Given the description of an element on the screen output the (x, y) to click on. 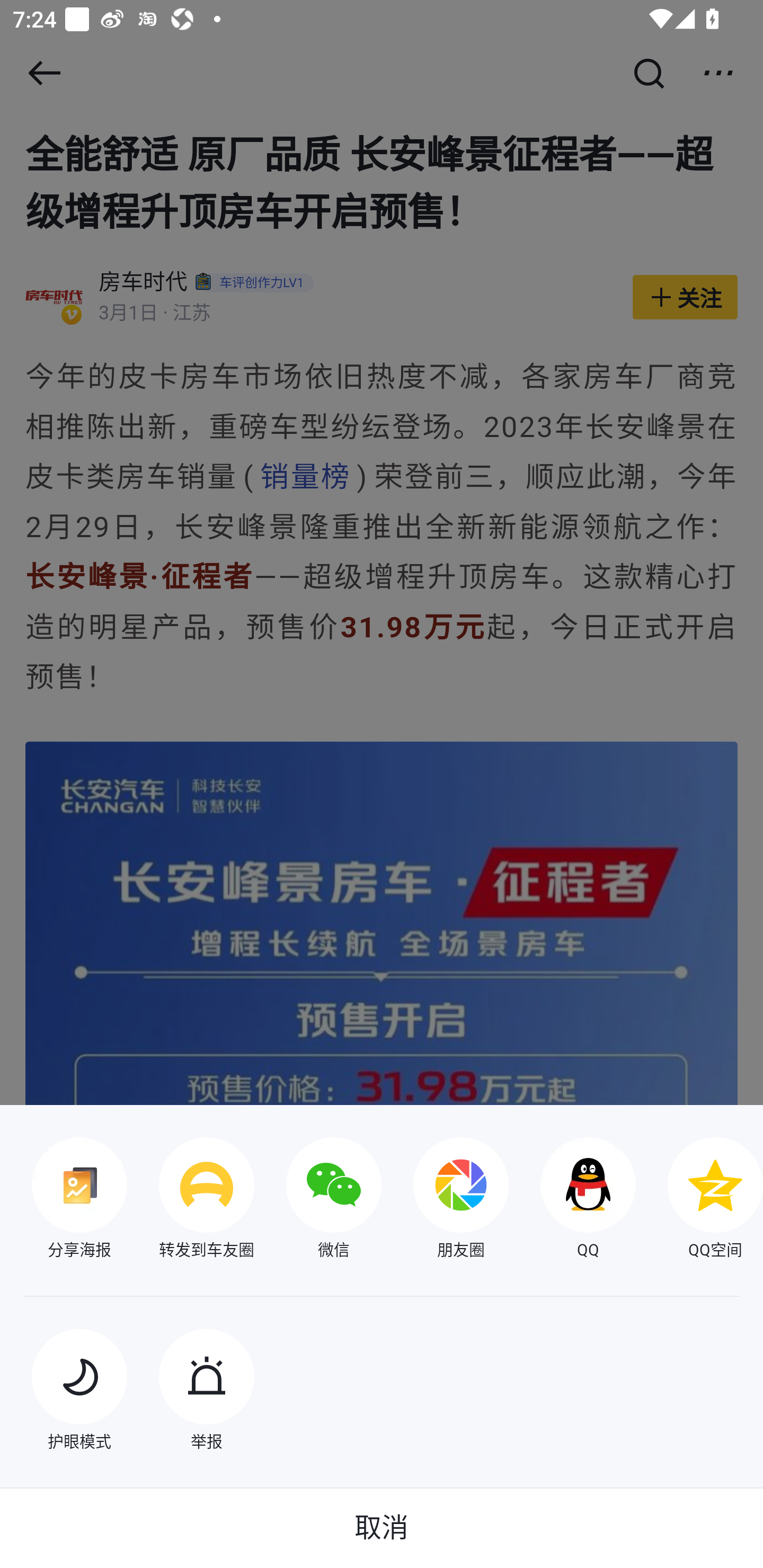
分享海报 (63, 1200)
转发到车友圈 (190, 1200)
微信 (317, 1200)
朋友圈 (444, 1200)
QQ (571, 1200)
QQ空间 (699, 1200)
 护眼模式 (63, 1392)
 举报 (190, 1392)
取消 (381, 1528)
